Given the description of an element on the screen output the (x, y) to click on. 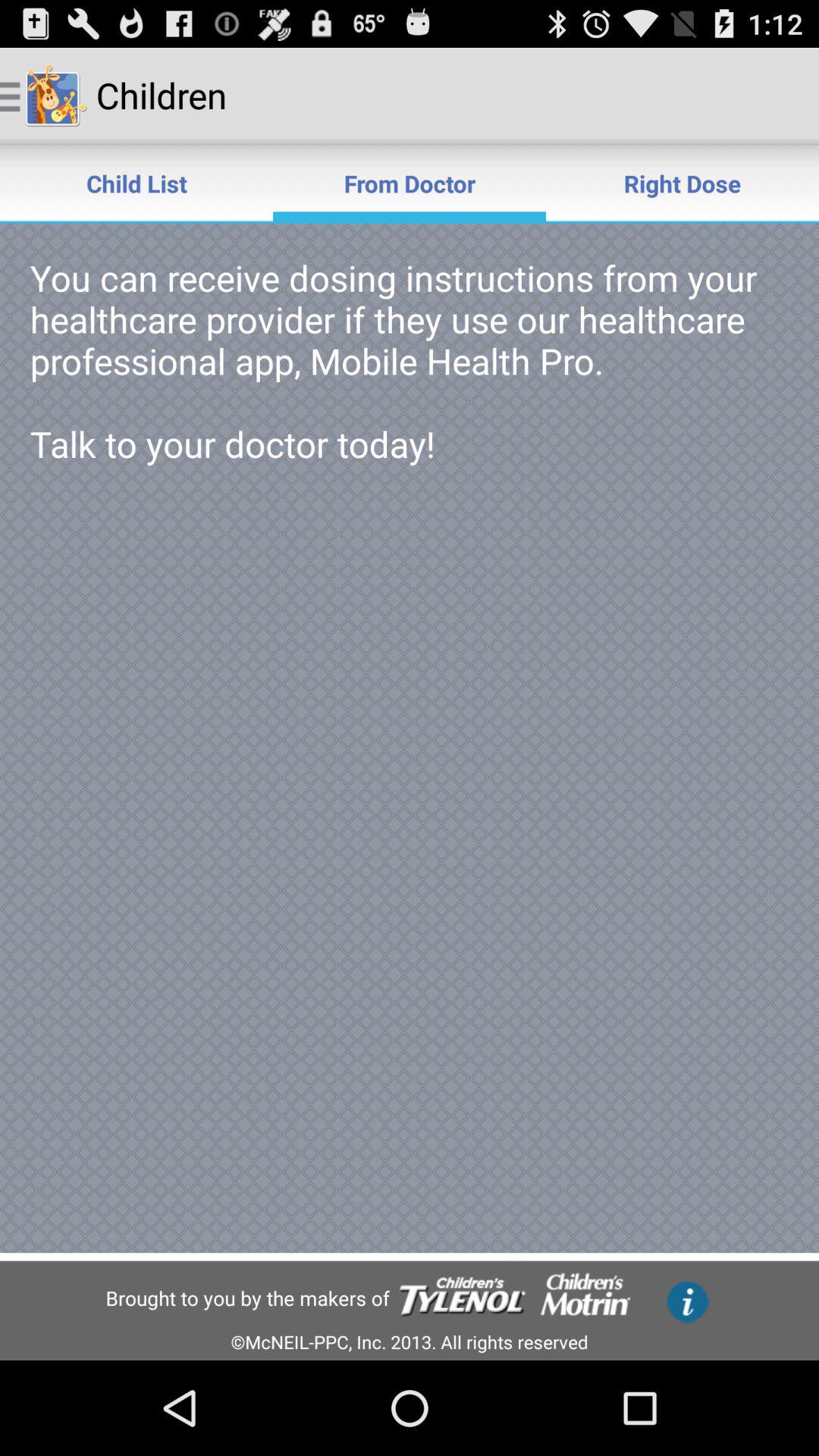
turn on item above the you can receive item (136, 183)
